Given the description of an element on the screen output the (x, y) to click on. 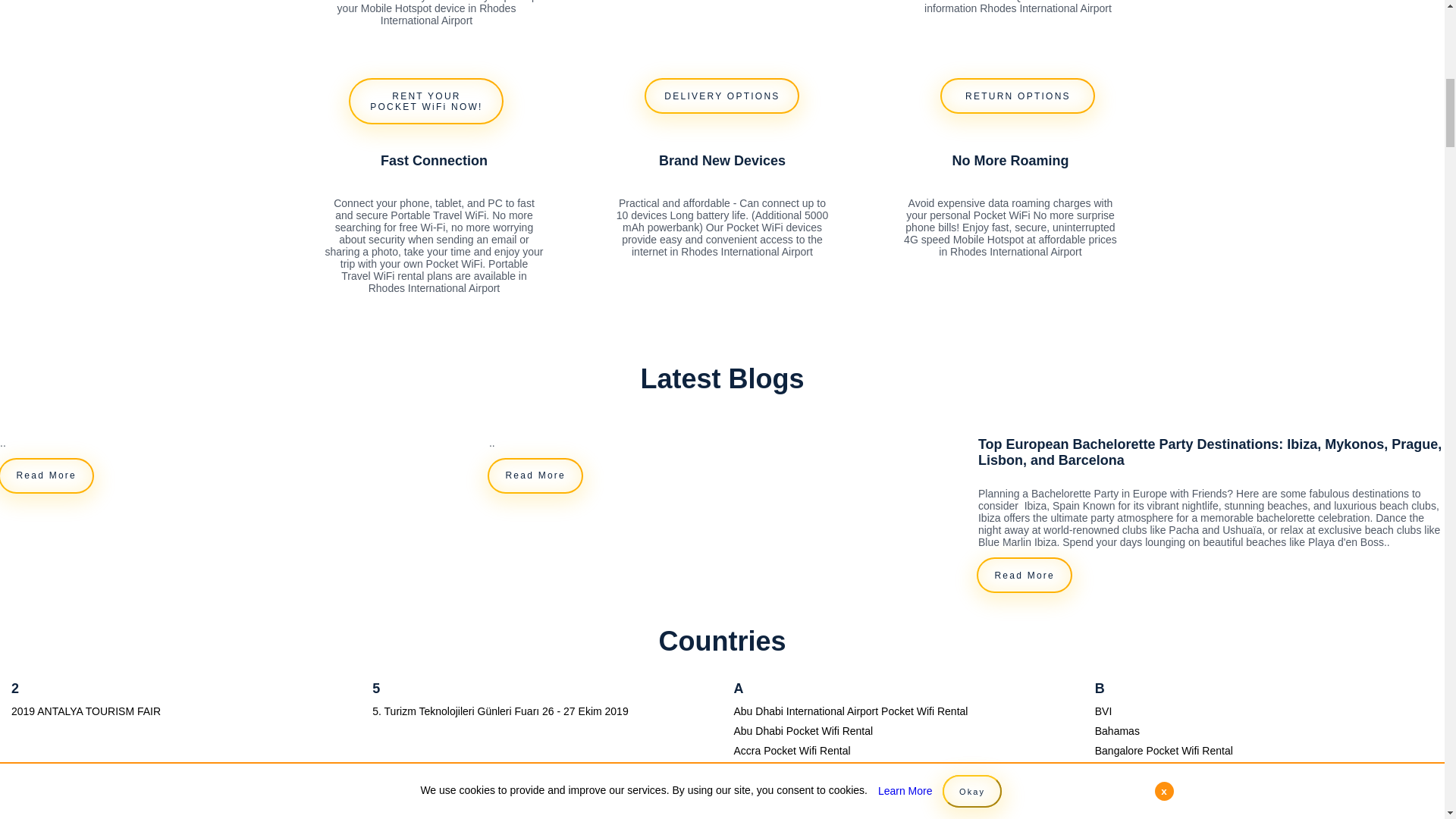
DELIVERY OPTIONS (721, 95)
Read More (534, 475)
Read More (1024, 574)
RENT YOUR POCKET WiFi NOW! (426, 100)
RETURN OPTIONS (1017, 95)
Read More (46, 475)
